Given the description of an element on the screen output the (x, y) to click on. 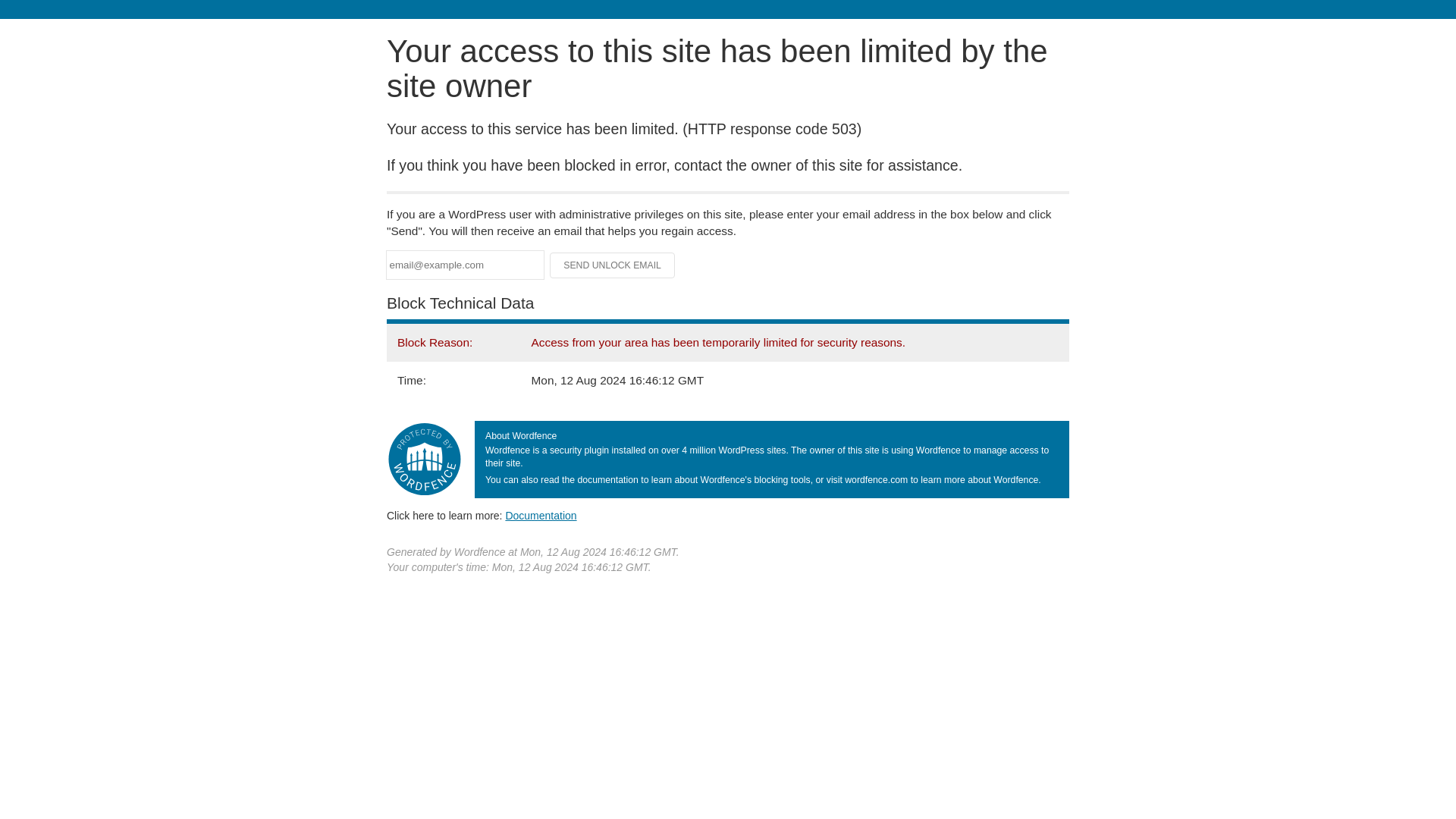
Documentation (540, 515)
Send Unlock Email (612, 265)
Send Unlock Email (612, 265)
